Given the description of an element on the screen output the (x, y) to click on. 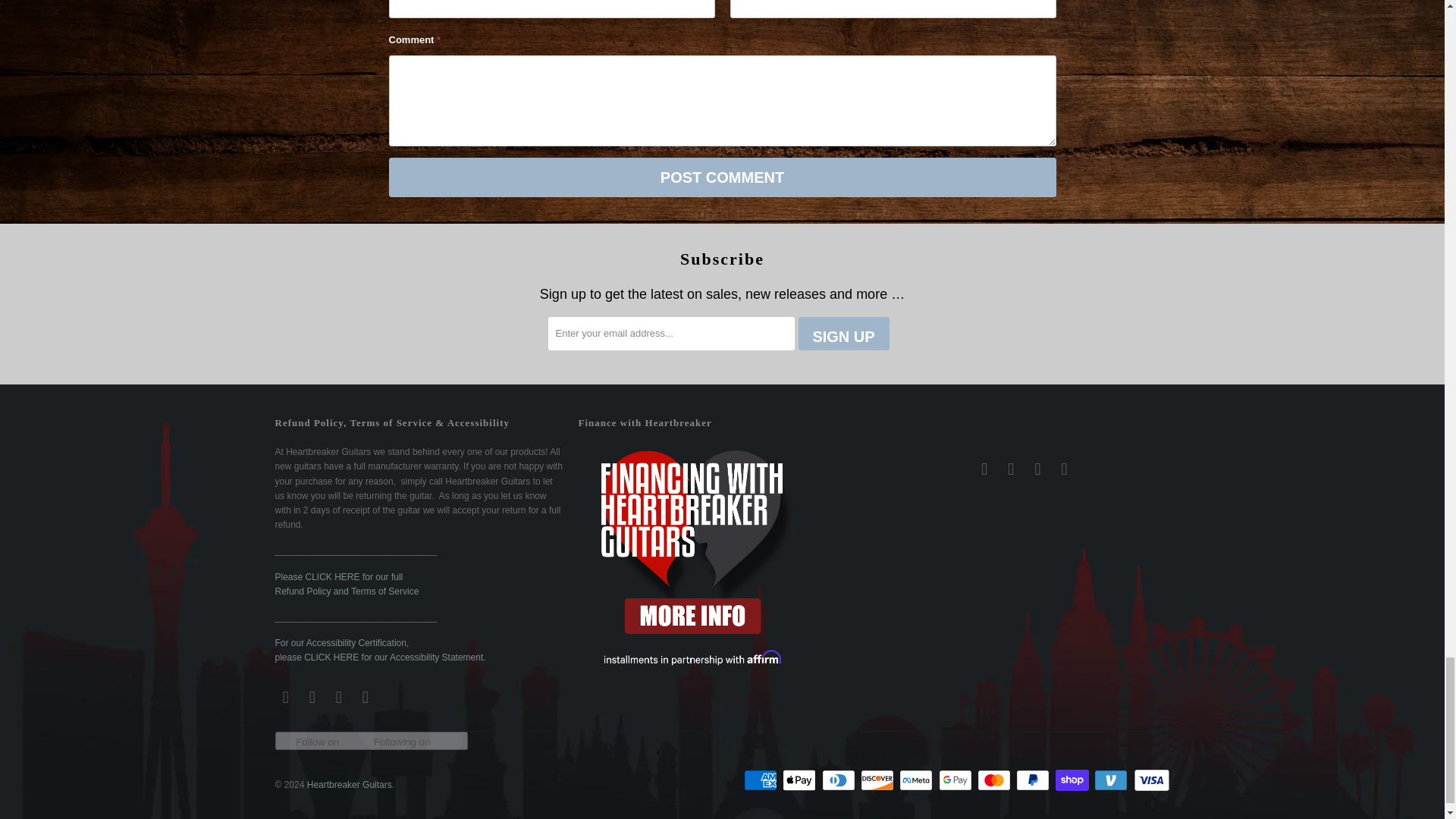
Mastercard (994, 780)
American Express (762, 780)
Venmo (1112, 780)
Sign Up (842, 333)
PayPal (1034, 780)
Apple Pay (800, 780)
Visa (1150, 780)
Meta Pay (917, 780)
Google Pay (957, 780)
Shop Pay (1073, 780)
